Given the description of an element on the screen output the (x, y) to click on. 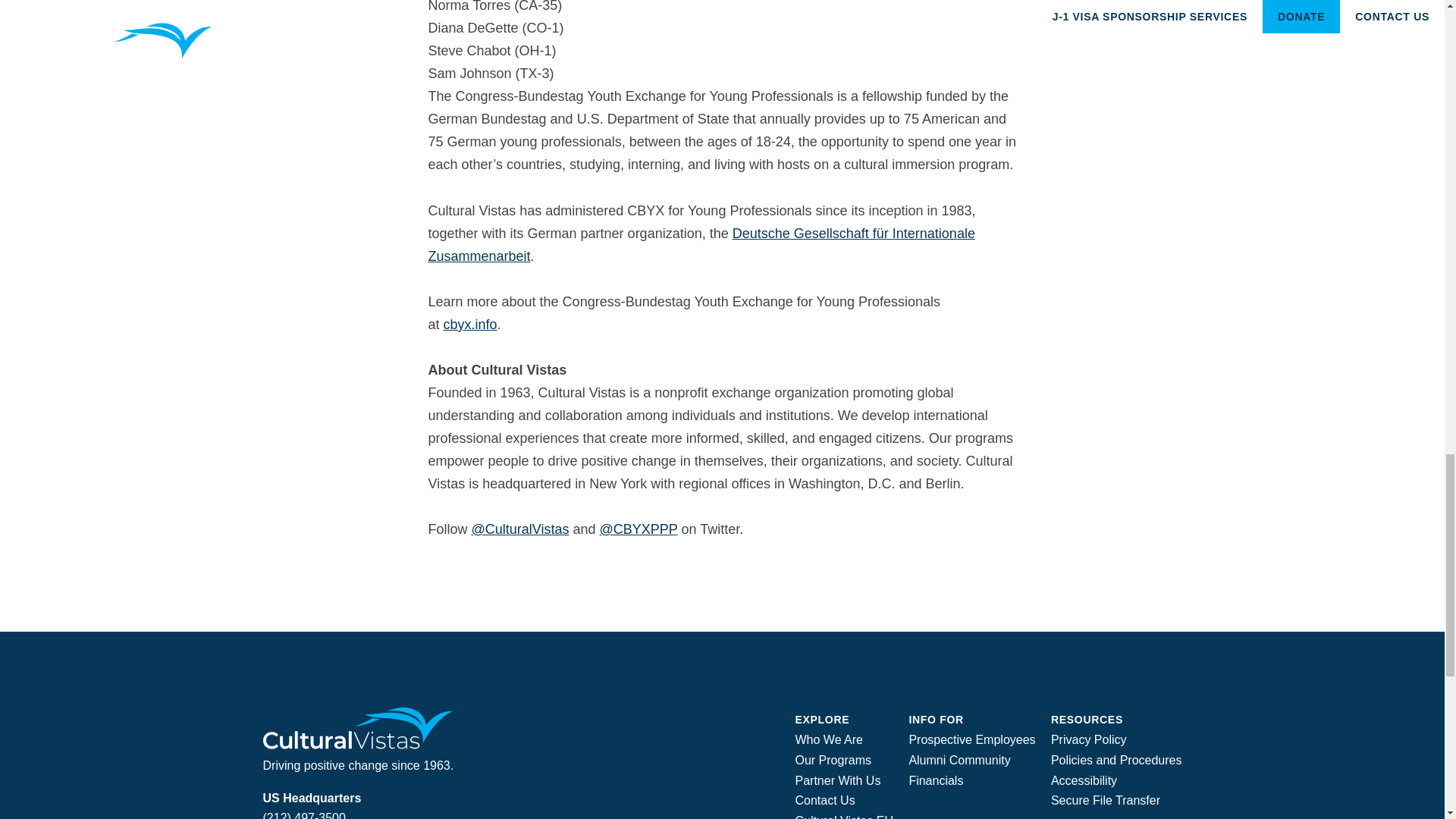
homepage (357, 744)
cbyx.info (470, 324)
